Given the description of an element on the screen output the (x, y) to click on. 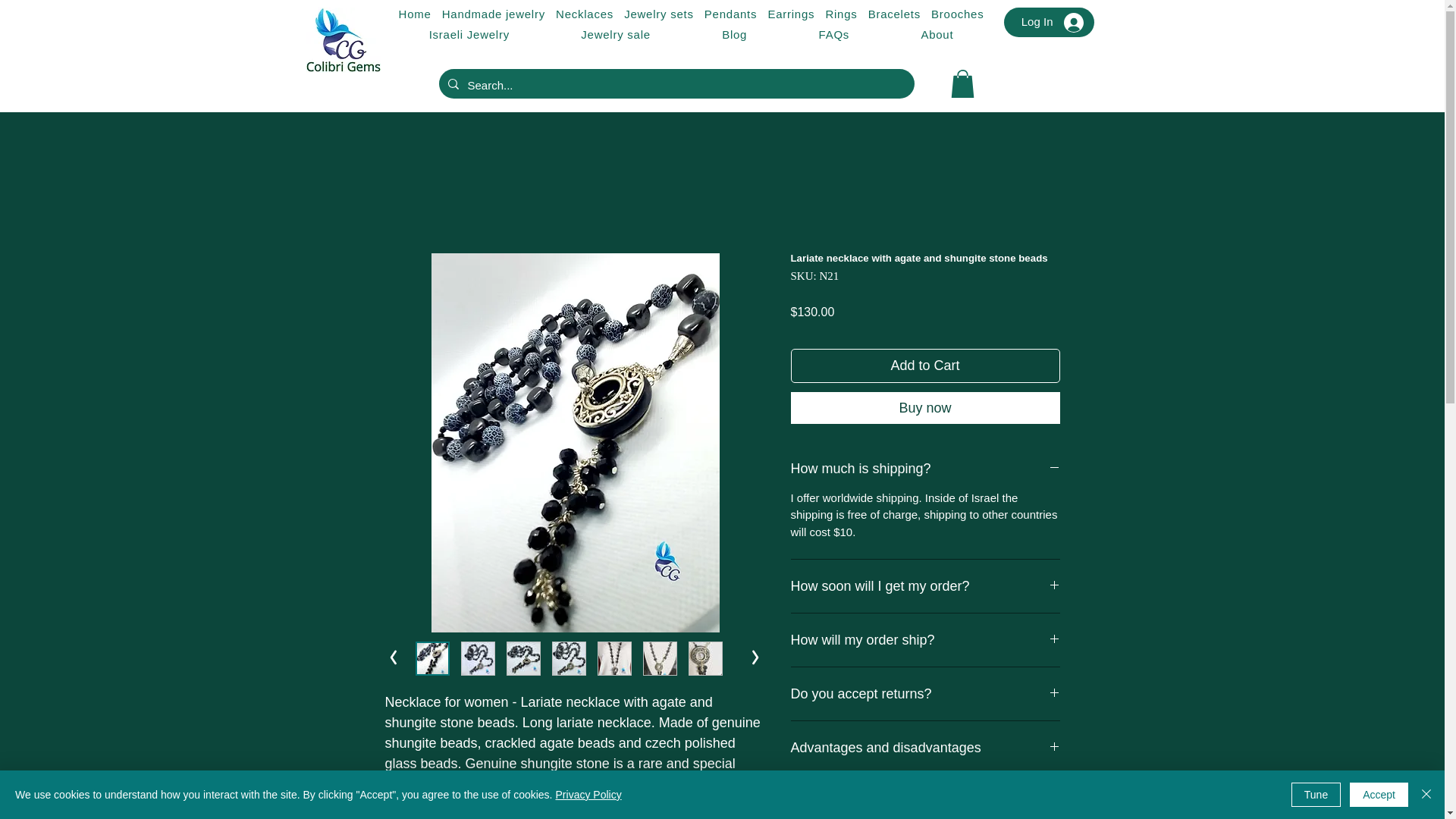
Jewelry sets (658, 14)
Handmade jewelry store COLIBRI GEMS (342, 39)
Earrings (790, 14)
Handmade jewelry (493, 14)
Home (414, 14)
Pendants (730, 14)
Necklaces (584, 14)
